Given the description of an element on the screen output the (x, y) to click on. 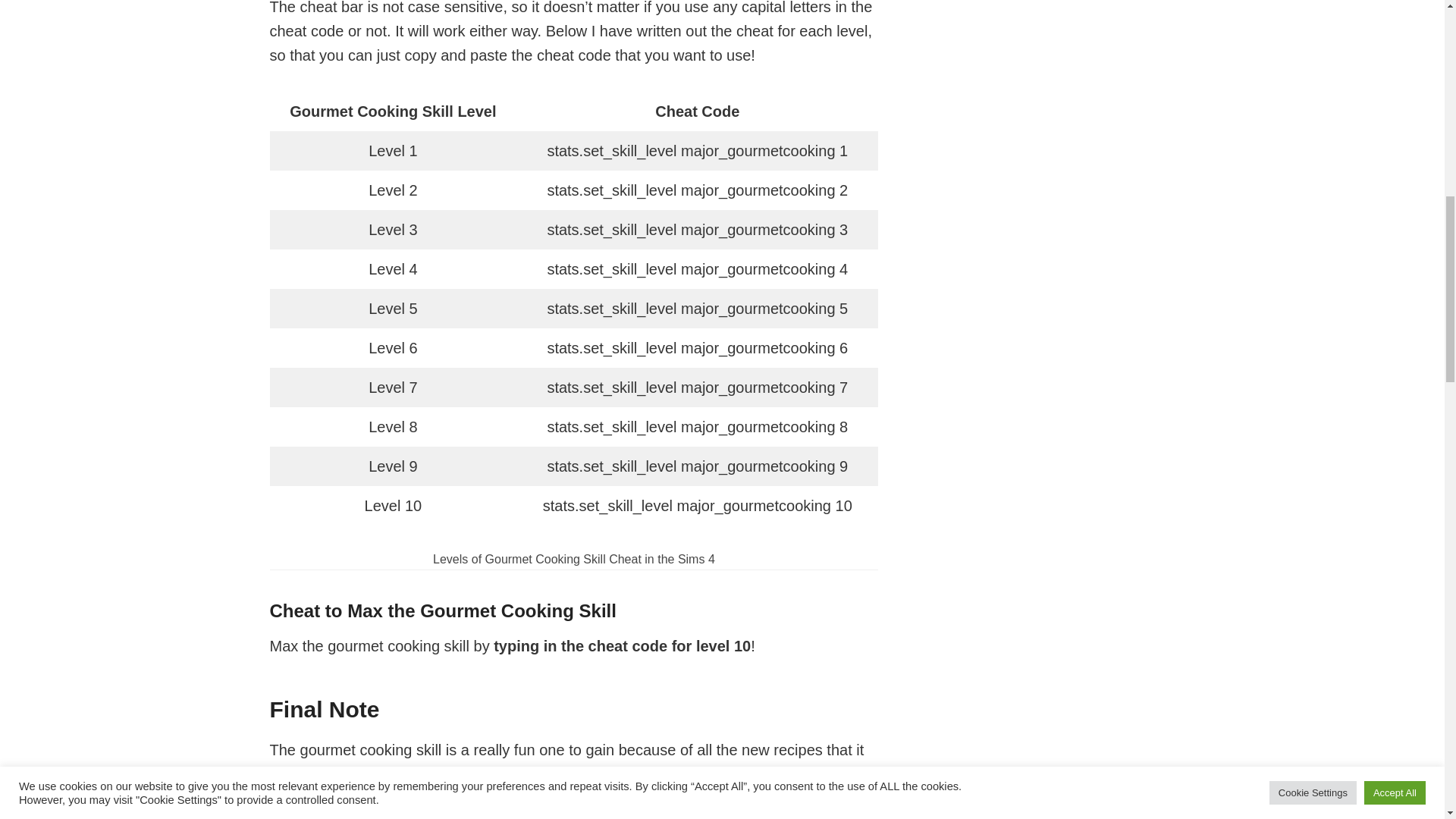
baking skill cheat (560, 785)
